Given the description of an element on the screen output the (x, y) to click on. 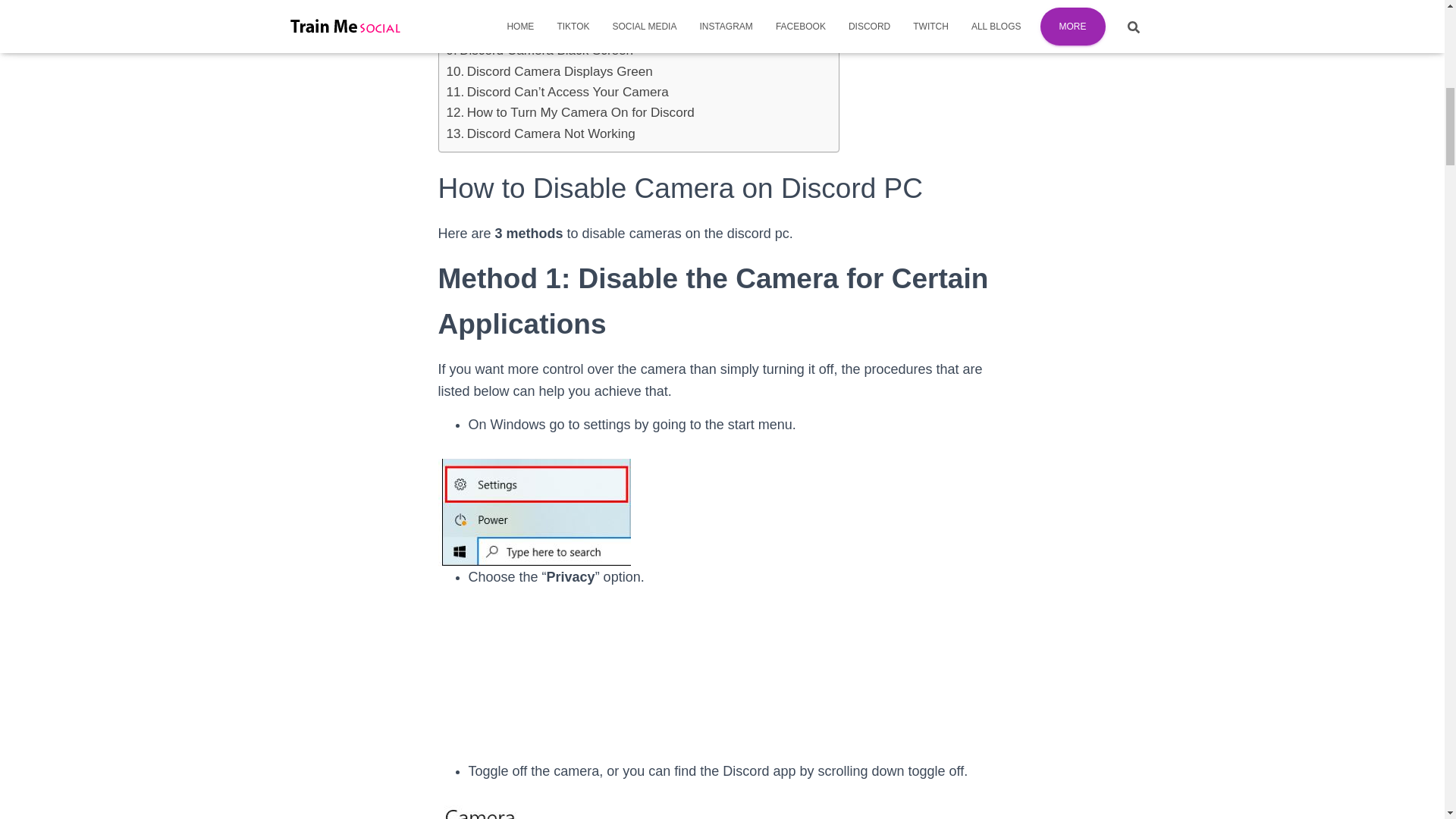
How to Turn My Camera On for Discord (569, 112)
Discord Camera Black Screen (539, 50)
Discord Automatically Turns on the Camera? (580, 9)
Discord Camera Not Working (539, 133)
Discord Camera Displays Green (548, 71)
How to Turn on Camera on Discord Mobile (574, 29)
